Given the description of an element on the screen output the (x, y) to click on. 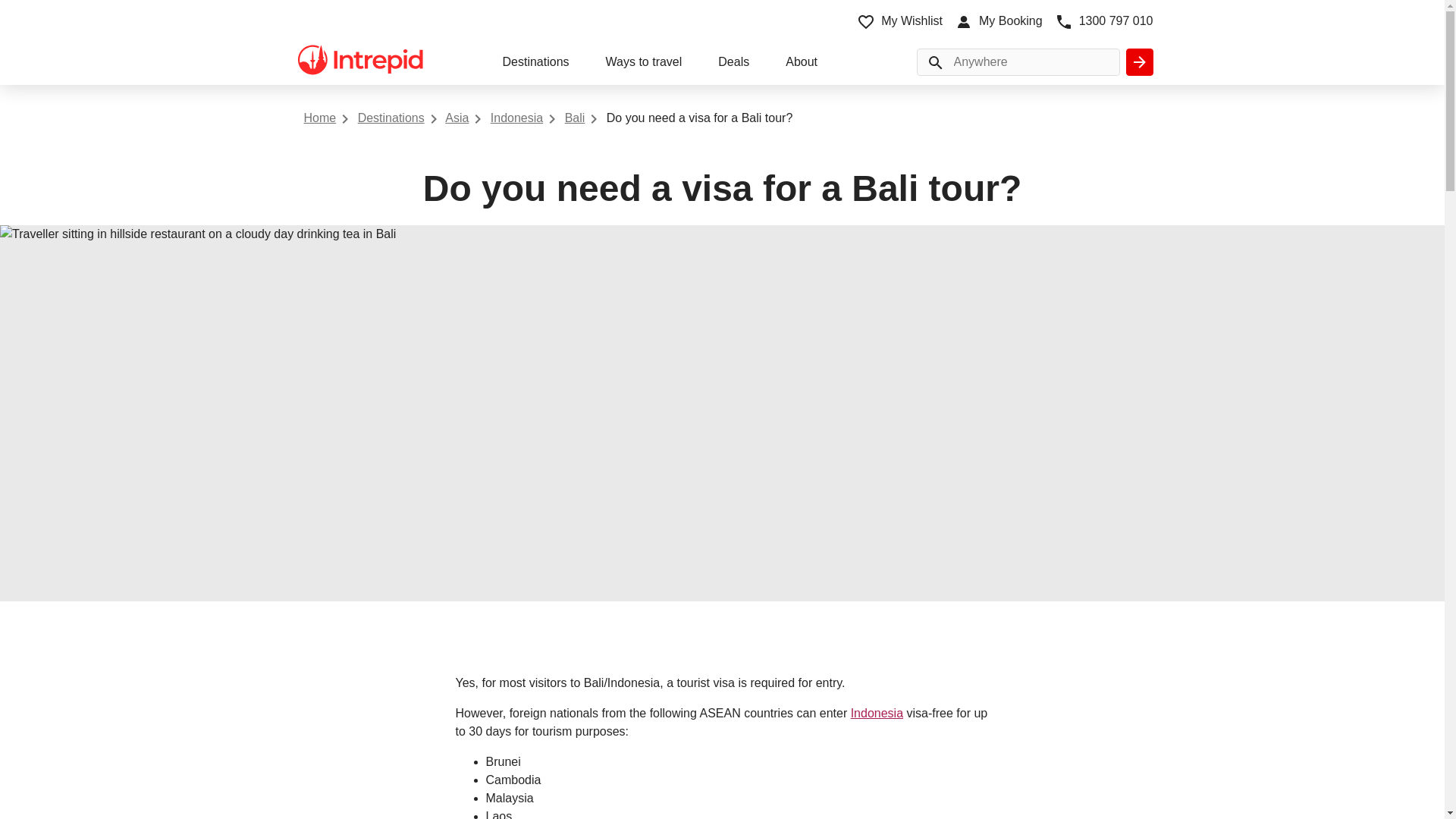
My Wishlist (899, 21)
Destinations (534, 63)
About (801, 63)
My Booking (998, 21)
Ways to travel (644, 63)
Deals (733, 63)
1300 797 010 (1103, 21)
